Given the description of an element on the screen output the (x, y) to click on. 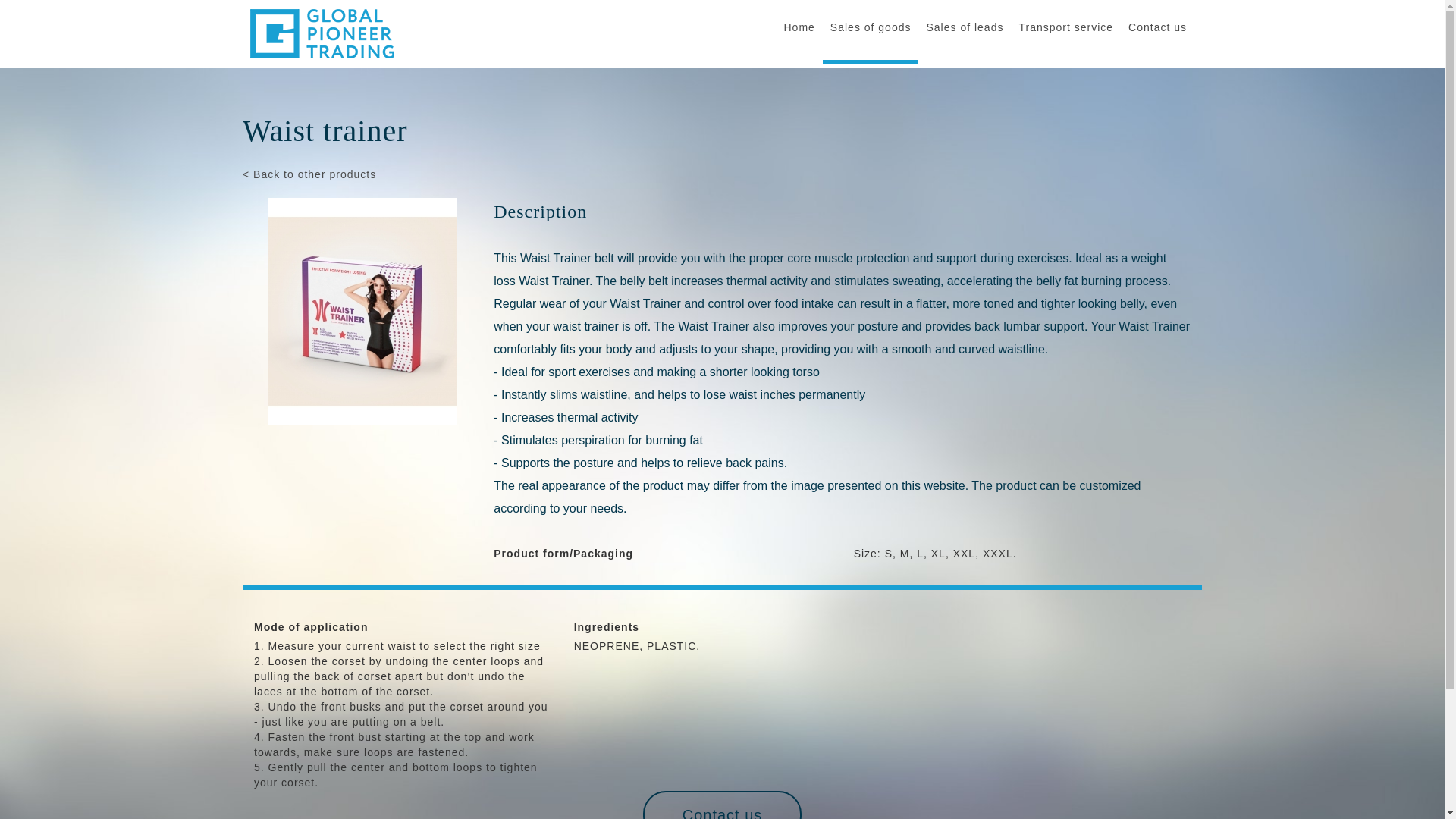
Transport service (1065, 27)
Contact us (1157, 27)
Home (799, 27)
Sales of goods (870, 27)
Sales of leads (964, 27)
Contact us (722, 805)
